Given the description of an element on the screen output the (x, y) to click on. 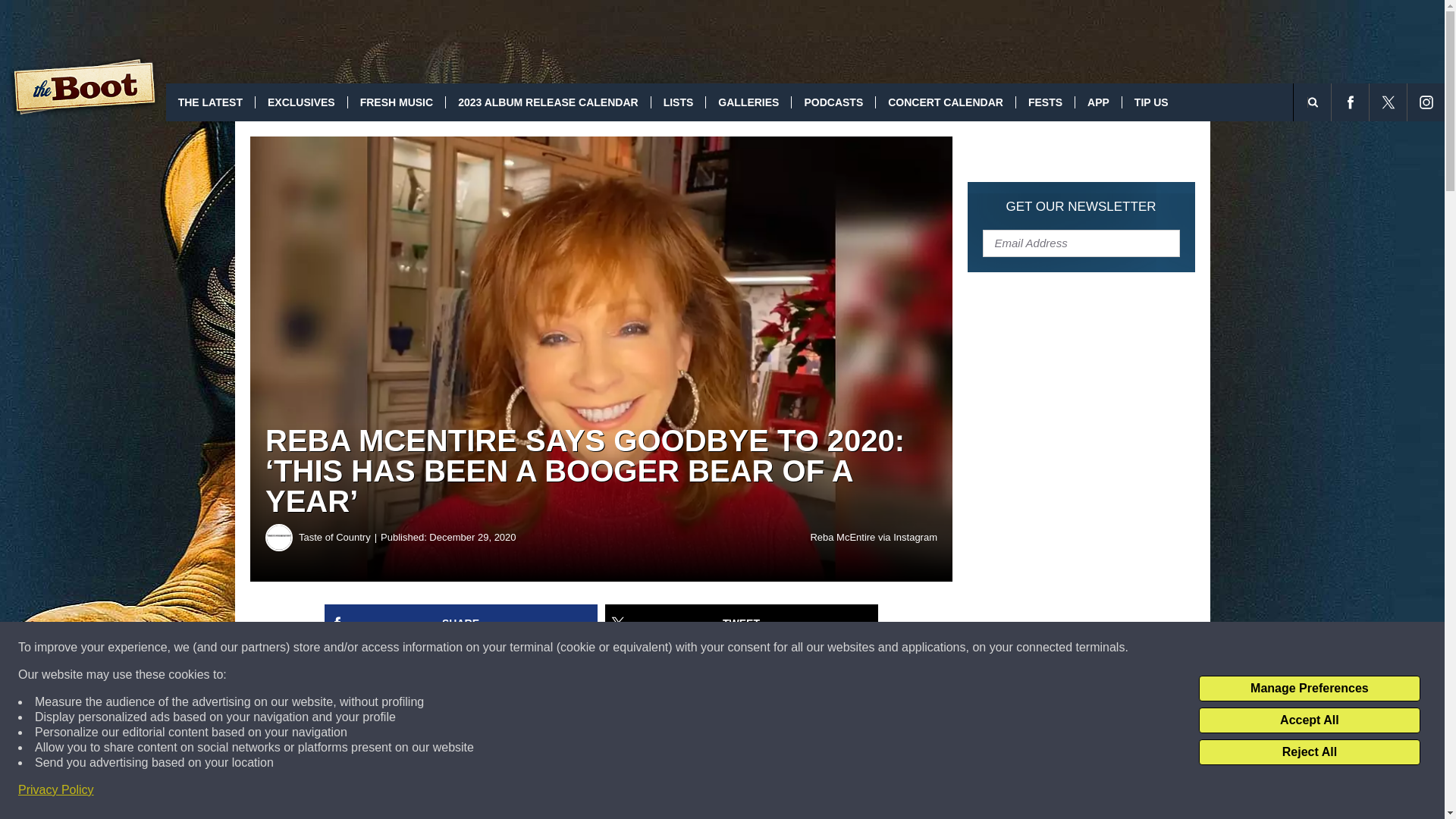
SEARCH (1333, 102)
APP (1097, 102)
LISTS (678, 102)
Privacy Policy (55, 789)
Accept All (1309, 720)
Visit us on Twitter (1388, 102)
2023 ALBUM RELEASE CALENDAR (547, 102)
Reject All (1309, 751)
Manage Preferences (1309, 688)
TIP US (1150, 102)
FESTS (1044, 102)
PODCASTS (832, 102)
EXCLUSIVES (300, 102)
SHARE (460, 623)
Visit us on Facebook (1350, 102)
